Given the description of an element on the screen output the (x, y) to click on. 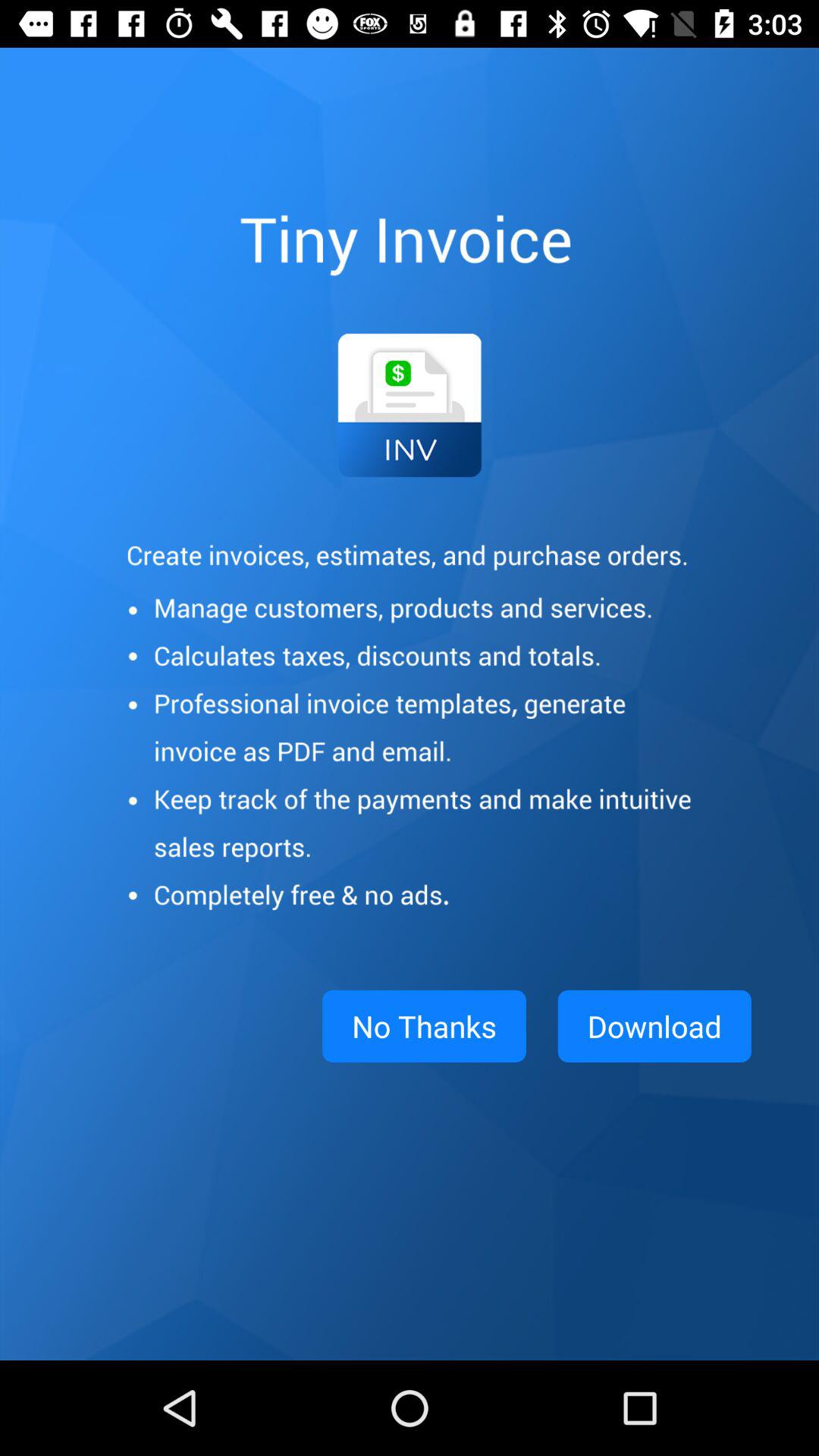
launch item next to no thanks app (654, 1026)
